Given the description of an element on the screen output the (x, y) to click on. 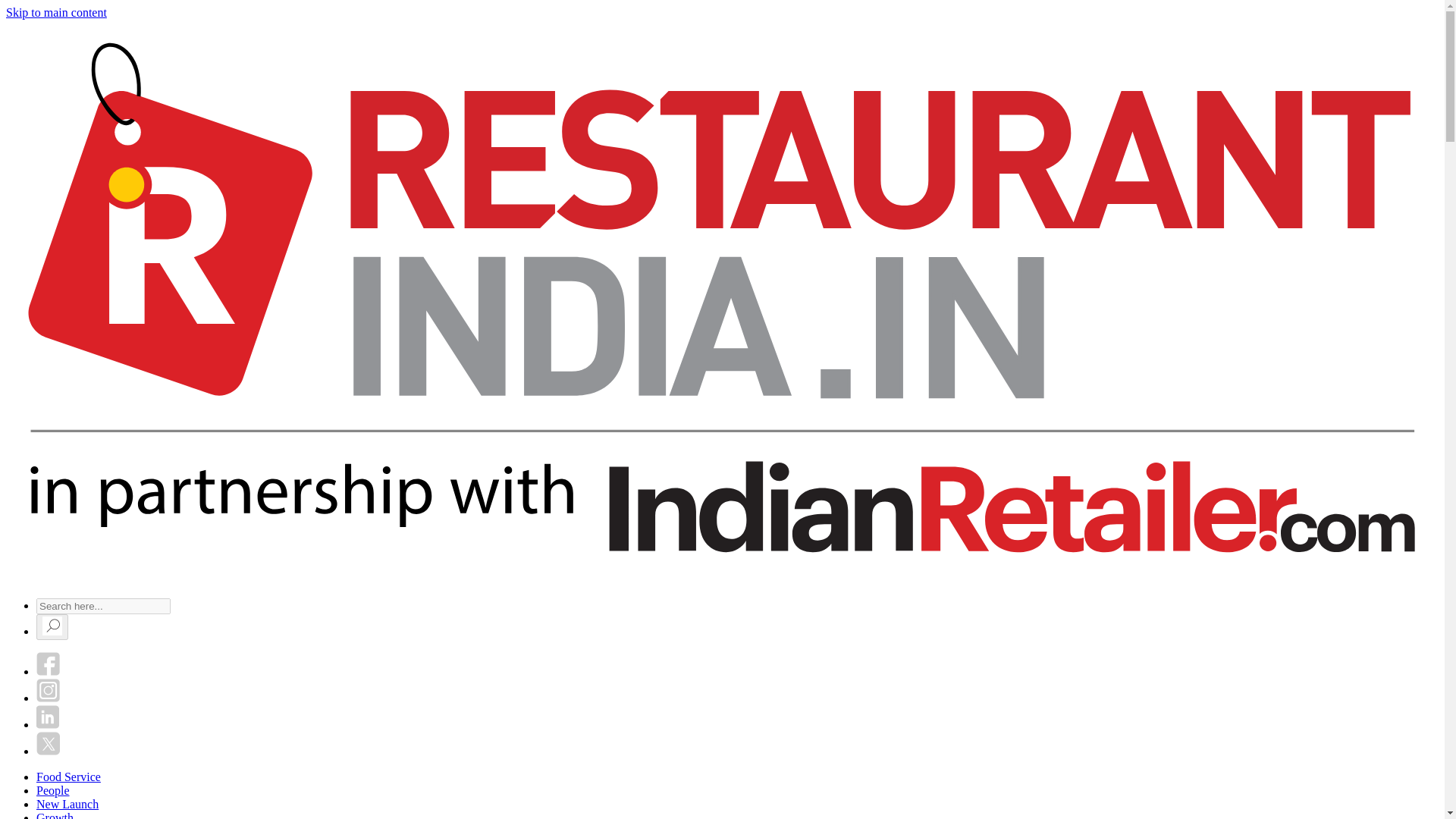
People (52, 789)
Food Service (68, 776)
Growth (55, 815)
New Launch (67, 803)
Skip to main content (55, 11)
